Given the description of an element on the screen output the (x, y) to click on. 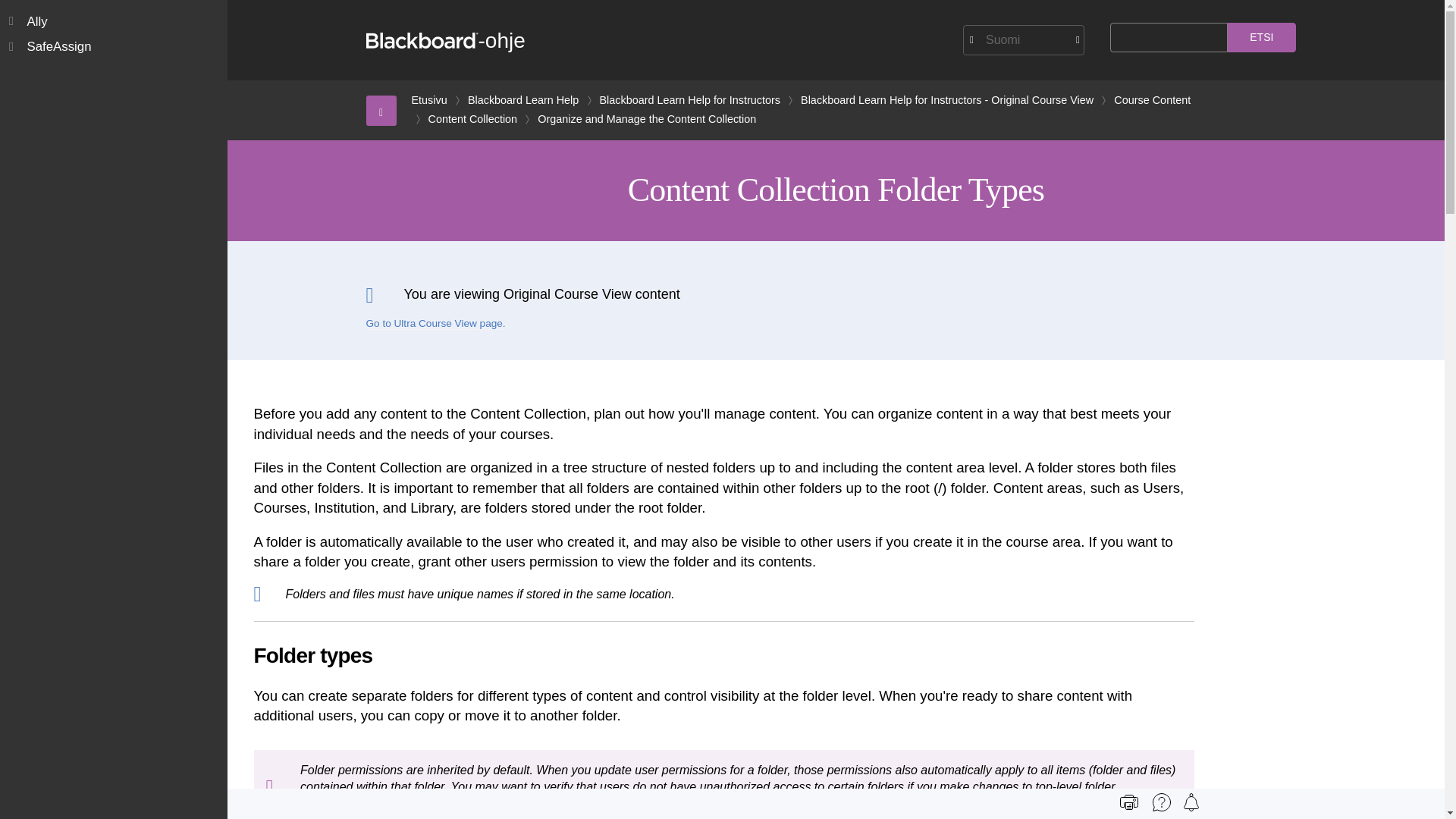
Etsi (1261, 37)
Course Content (1152, 99)
Etusivu (428, 99)
Blackboard Learn Help for Instructors (689, 99)
Blackboard-ohje (444, 40)
Blackboard Learn Help for Instructors - Original Course View (946, 99)
Go to Ultra Course View page. (435, 323)
Content Collection (472, 118)
Blackboard Learn Help (522, 99)
Etsi (1261, 37)
Organize and Manage the Content Collection (646, 118)
